Given the description of an element on the screen output the (x, y) to click on. 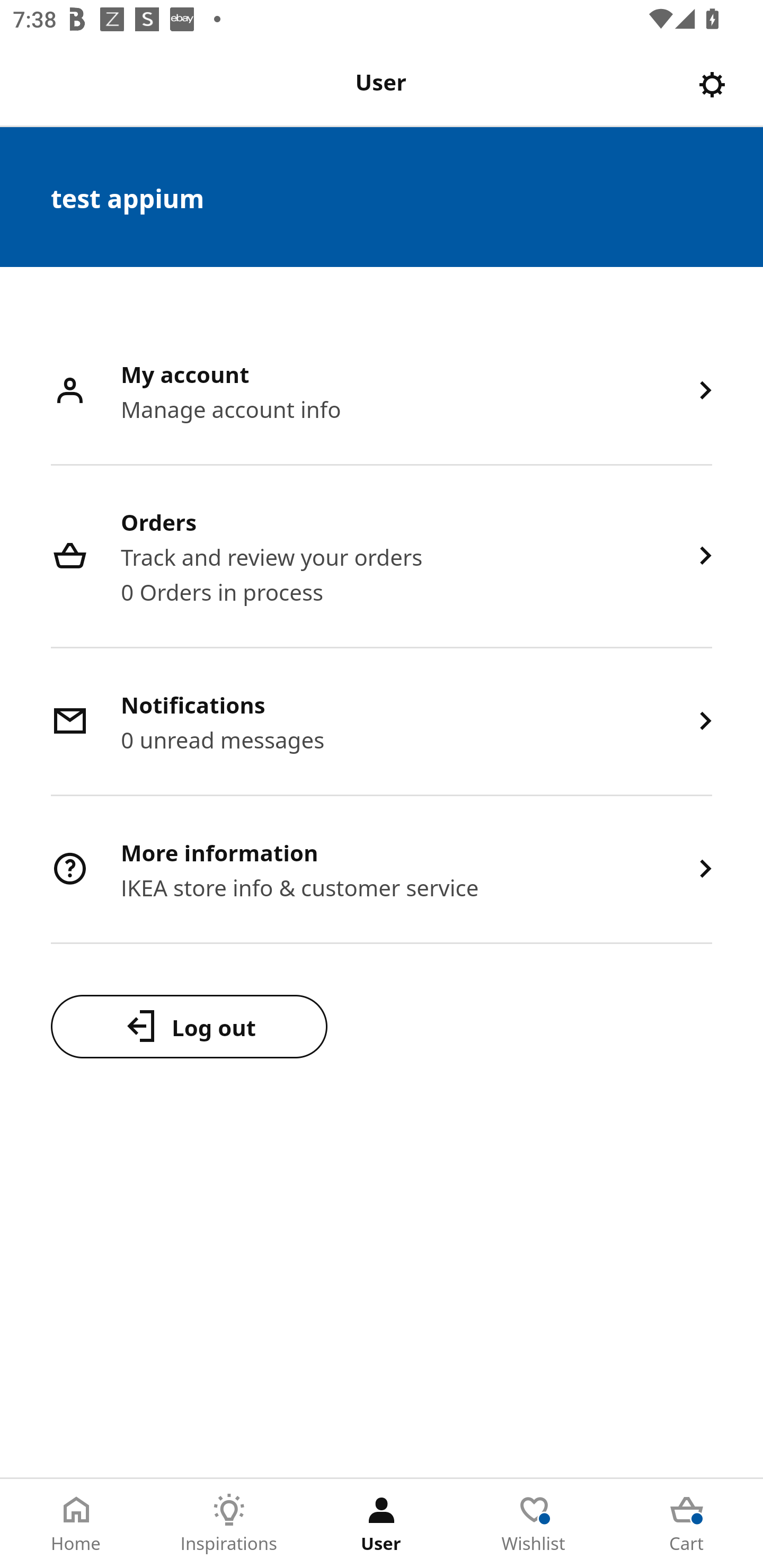
My account
Manage account info (381, 391)
Notifications
0 unread messages (381, 722)
Log out (189, 1026)
Home
Tab 1 of 5 (76, 1522)
Inspirations
Tab 2 of 5 (228, 1522)
User
Tab 3 of 5 (381, 1522)
Wishlist
Tab 4 of 5 (533, 1522)
Cart
Tab 5 of 5 (686, 1522)
